Given the description of an element on the screen output the (x, y) to click on. 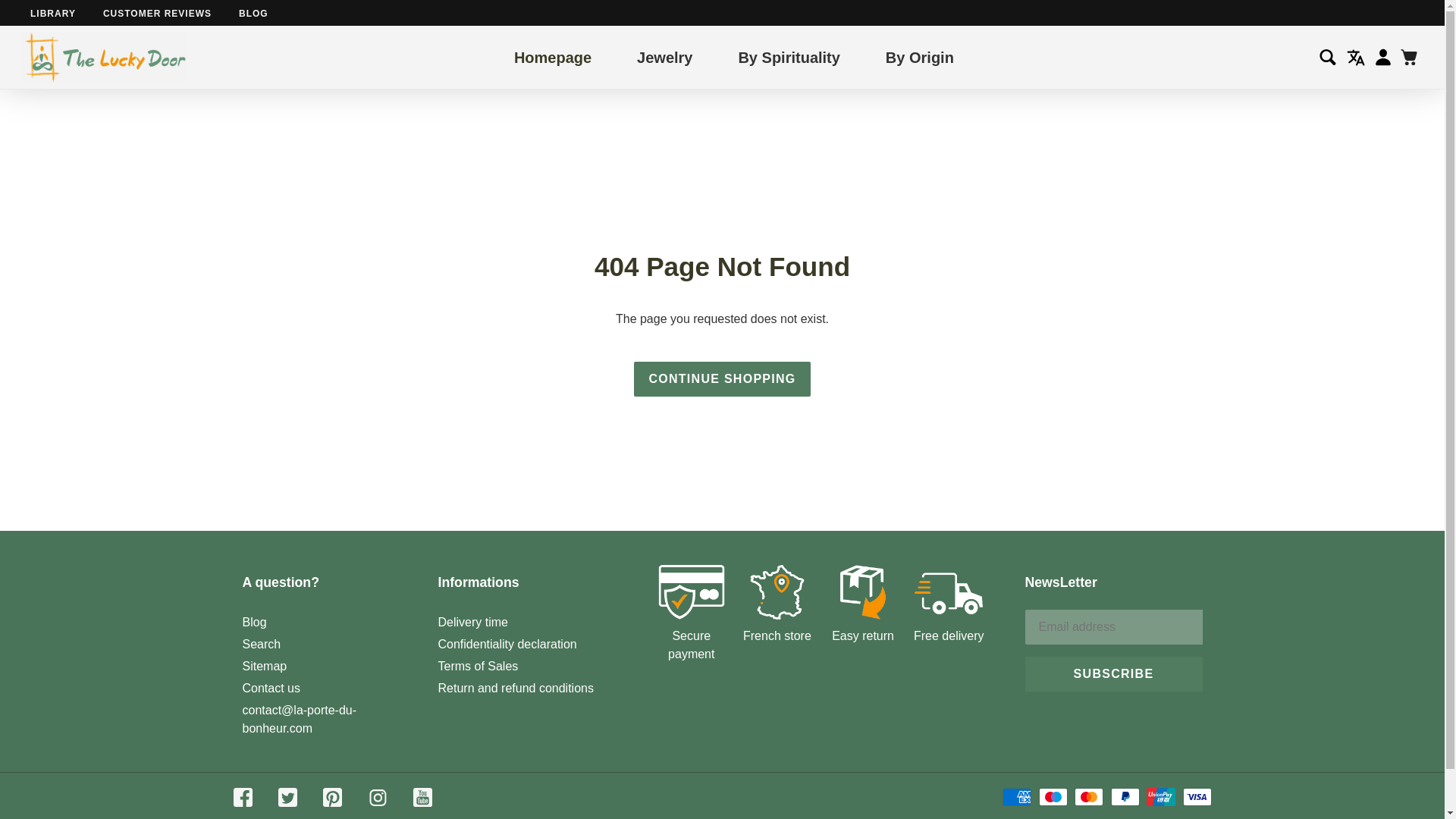
By Origin (918, 56)
Maestro (1053, 796)
Union Pay (1160, 796)
Homepage (552, 56)
LIBRARY (52, 13)
Visa (1196, 796)
PayPal (1125, 796)
Mastercard (1088, 796)
By Spirituality (788, 56)
BLOG (252, 13)
